Given the description of an element on the screen output the (x, y) to click on. 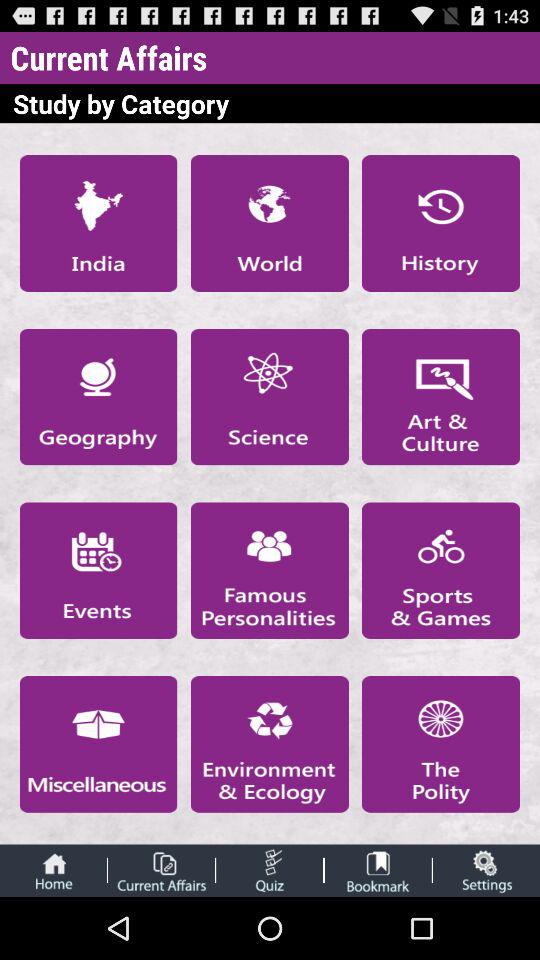
open new page (269, 744)
